Given the description of an element on the screen output the (x, y) to click on. 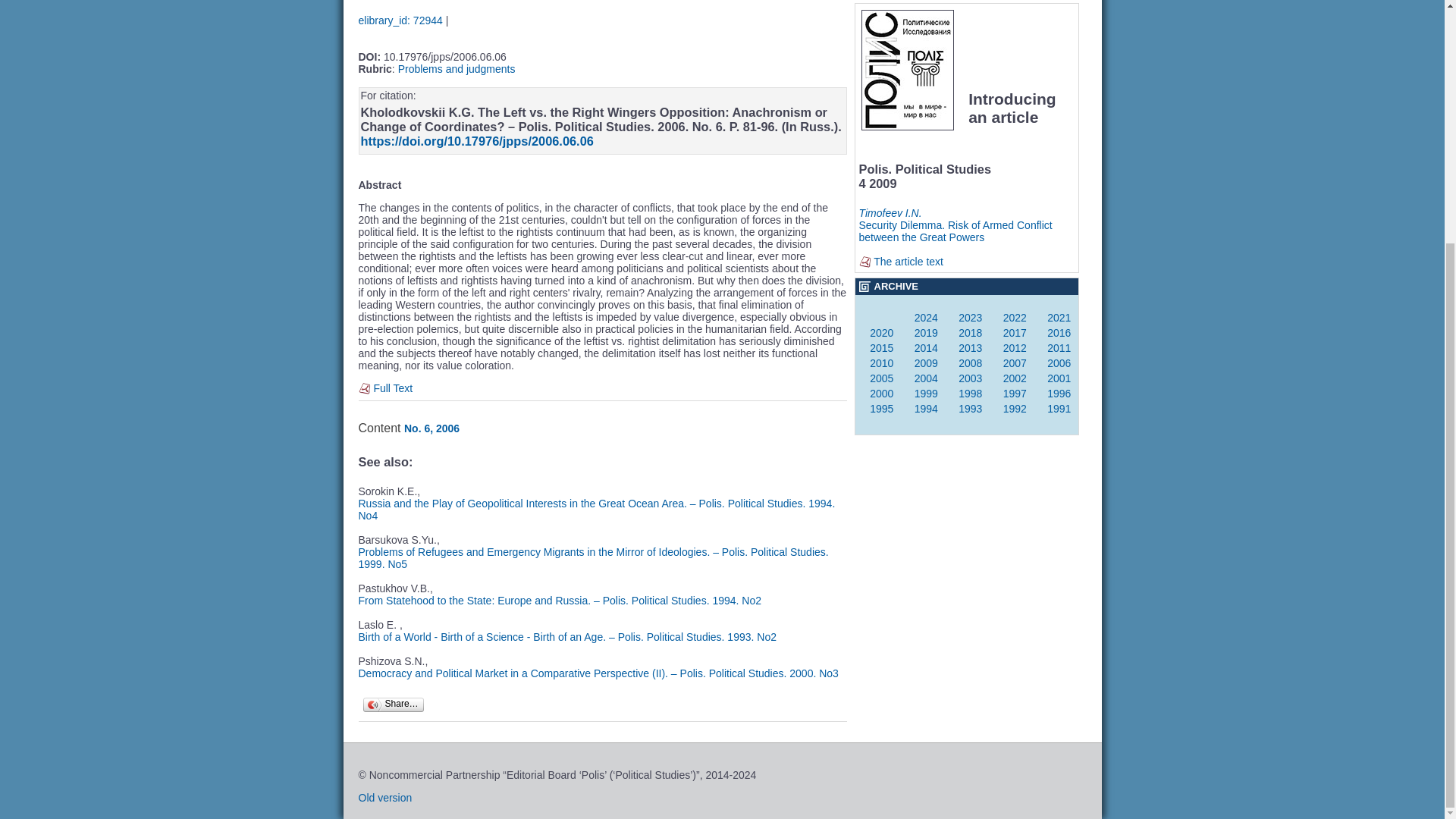
download free (567, 636)
